Given the description of an element on the screen output the (x, y) to click on. 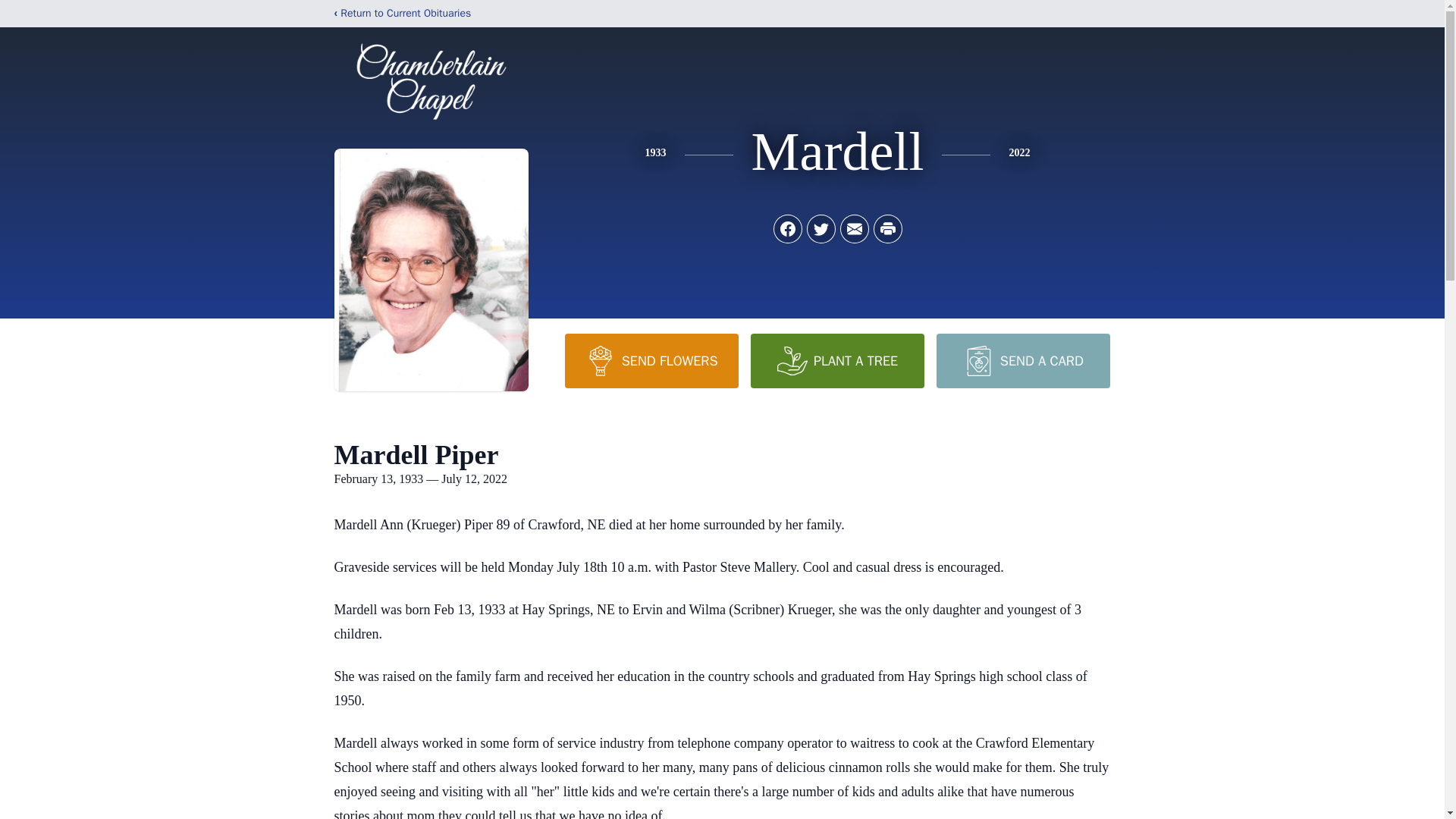
SEND FLOWERS (651, 360)
PLANT A TREE (837, 360)
SEND A CARD (1022, 360)
